Given the description of an element on the screen output the (x, y) to click on. 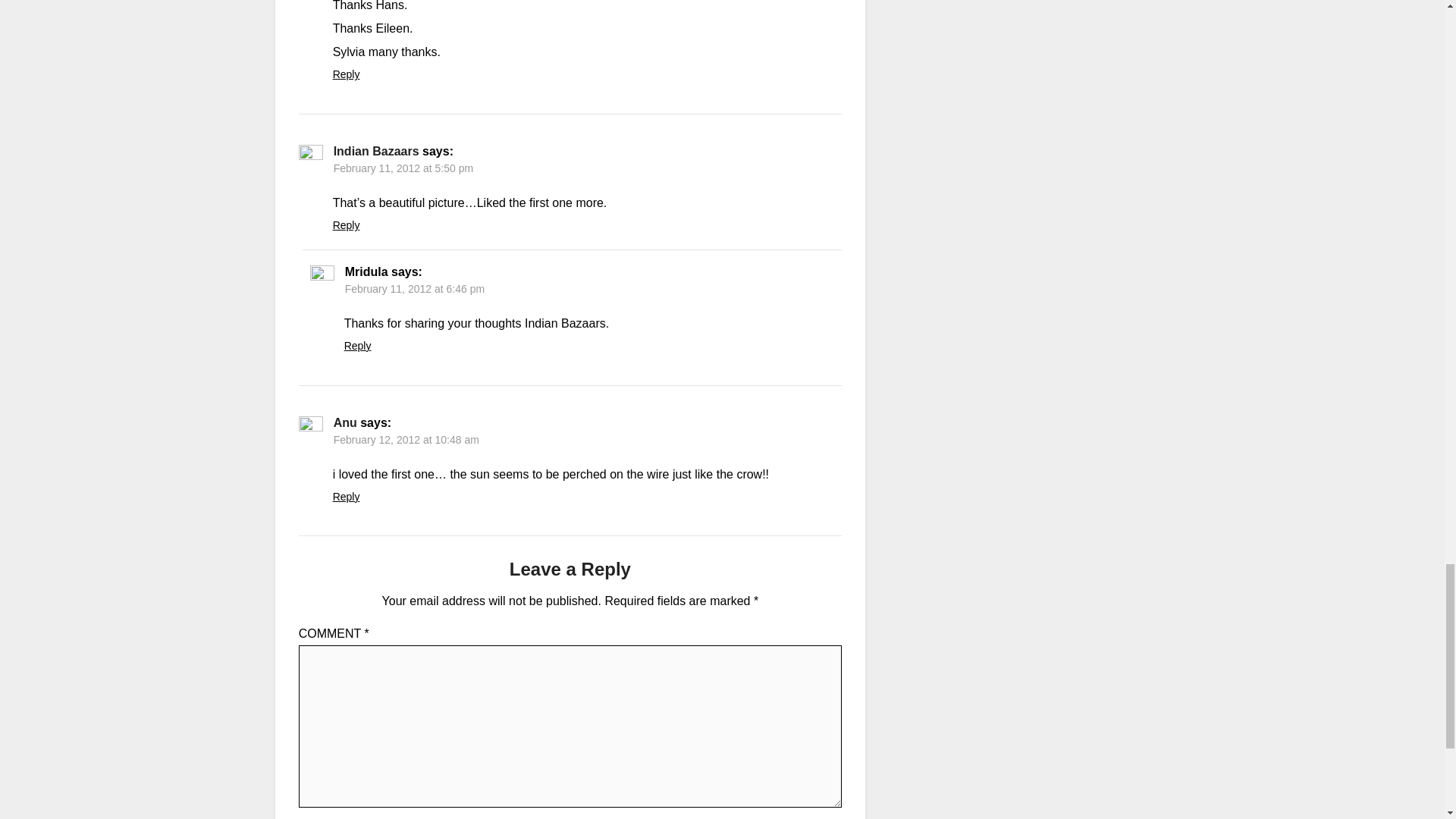
February 11, 2012 at 6:46 pm (414, 288)
February 12, 2012 at 10:48 am (406, 439)
Indian Bazaars (376, 151)
Anu (344, 422)
Reply (346, 224)
Reply (357, 345)
Reply (346, 73)
February 11, 2012 at 5:50 pm (403, 168)
